Given the description of an element on the screen output the (x, y) to click on. 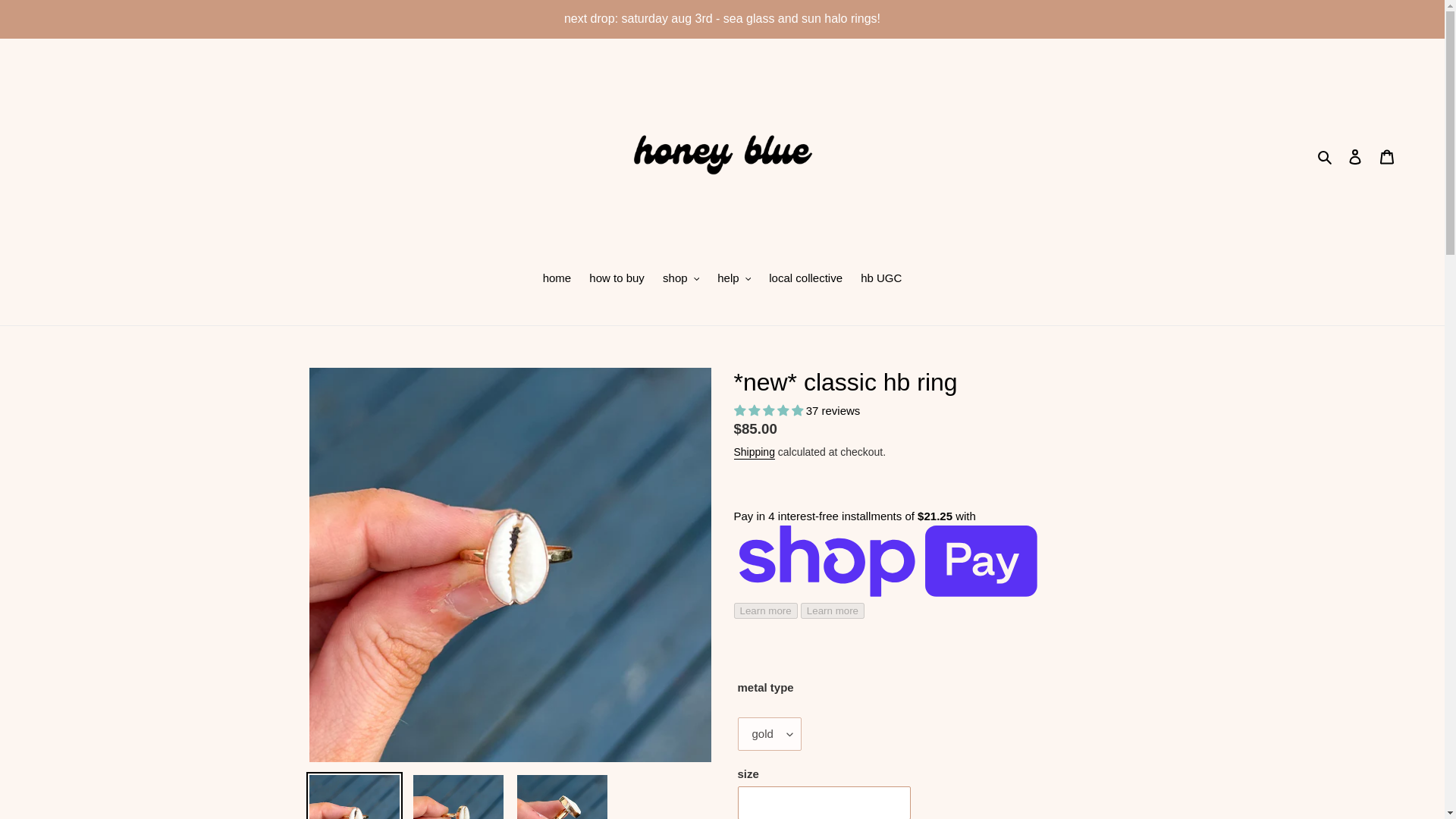
help (734, 279)
Cart (1387, 156)
Search (1326, 156)
shop (680, 279)
Log in (1355, 156)
home (557, 279)
how to buy (616, 279)
next drop: saturday aug 3rd - sea glass and sun halo rings! (721, 18)
